Given the description of an element on the screen output the (x, y) to click on. 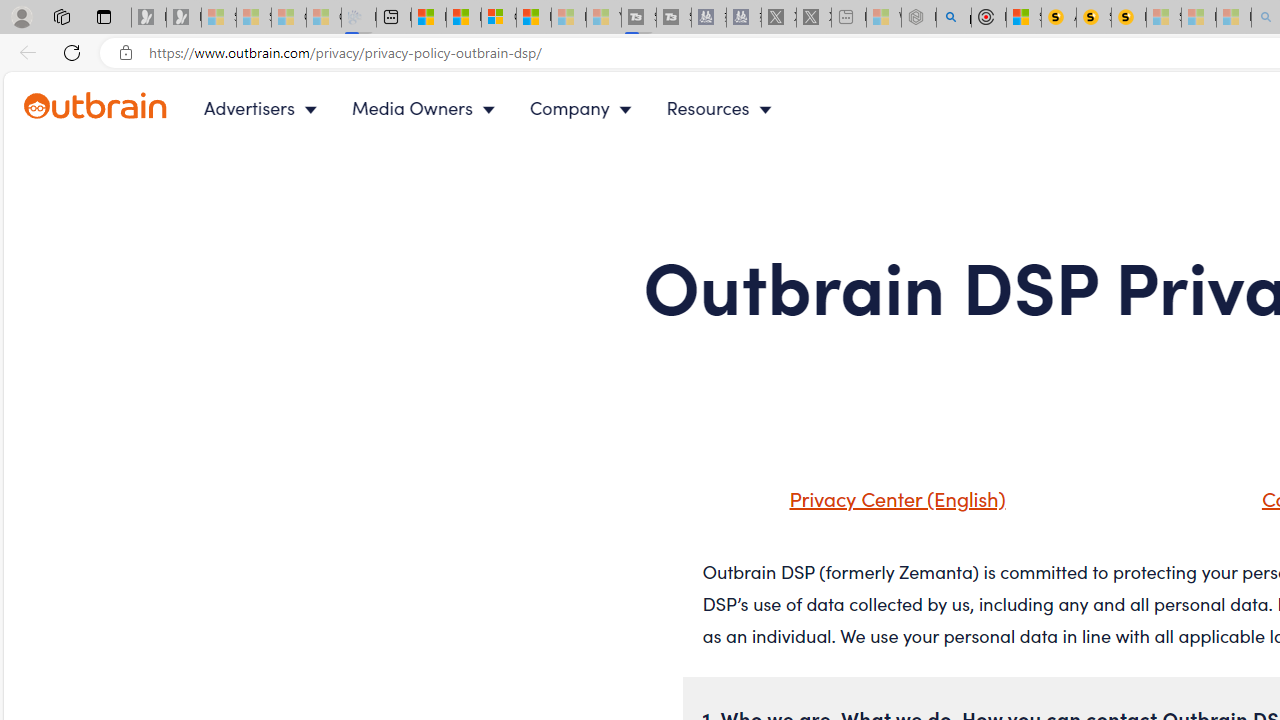
New tab - Sleeping (849, 17)
Newsletter Sign Up - Sleeping (183, 17)
Privacy Center (English) (872, 505)
Skip navigation to go to main content (60, 83)
Streaming Coverage | T3 - Sleeping (639, 17)
X - Sleeping (813, 17)
Resources (723, 107)
